Given the description of an element on the screen output the (x, y) to click on. 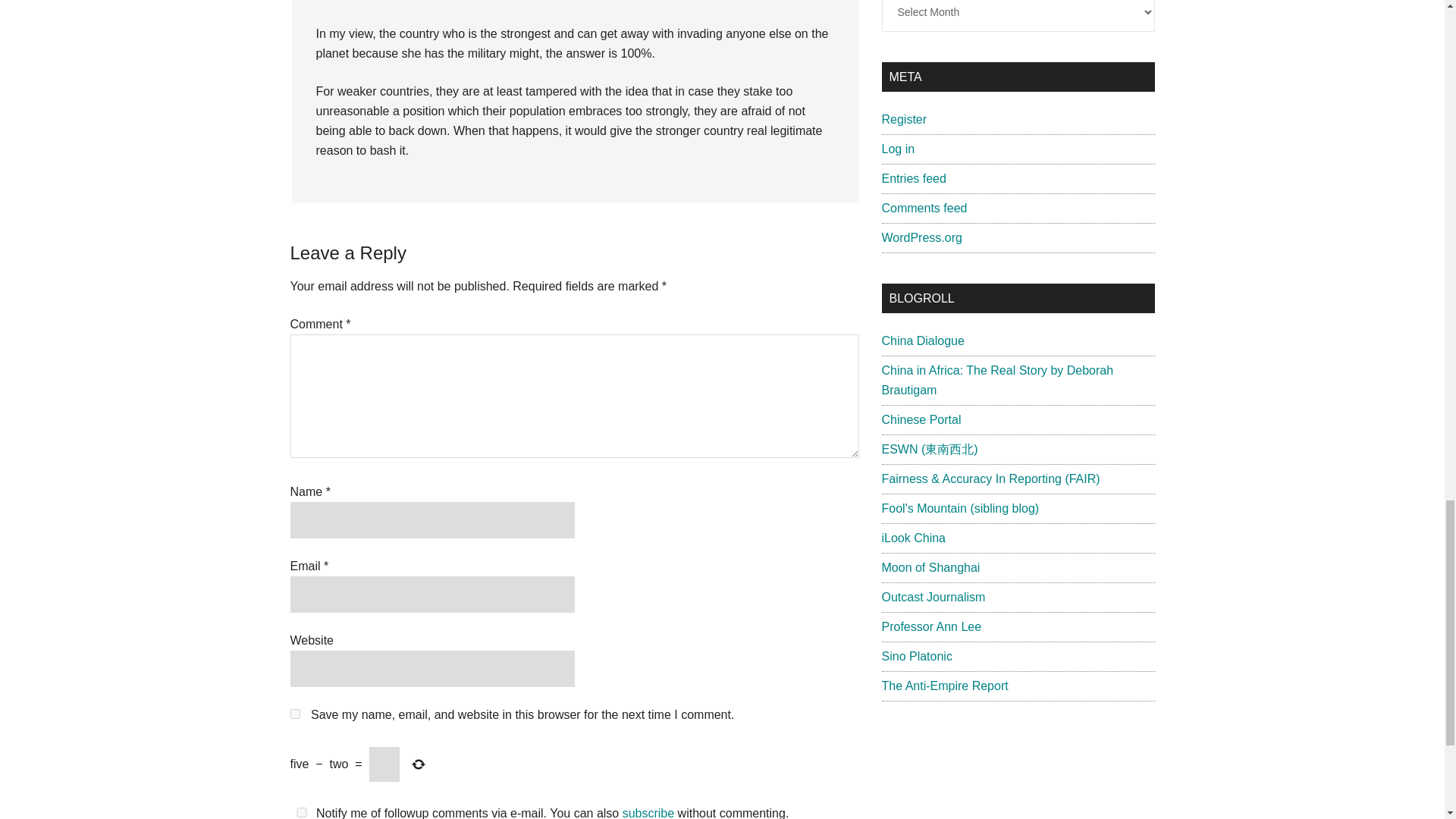
yes (294, 714)
subscribe (648, 812)
yes (301, 812)
